Given the description of an element on the screen output the (x, y) to click on. 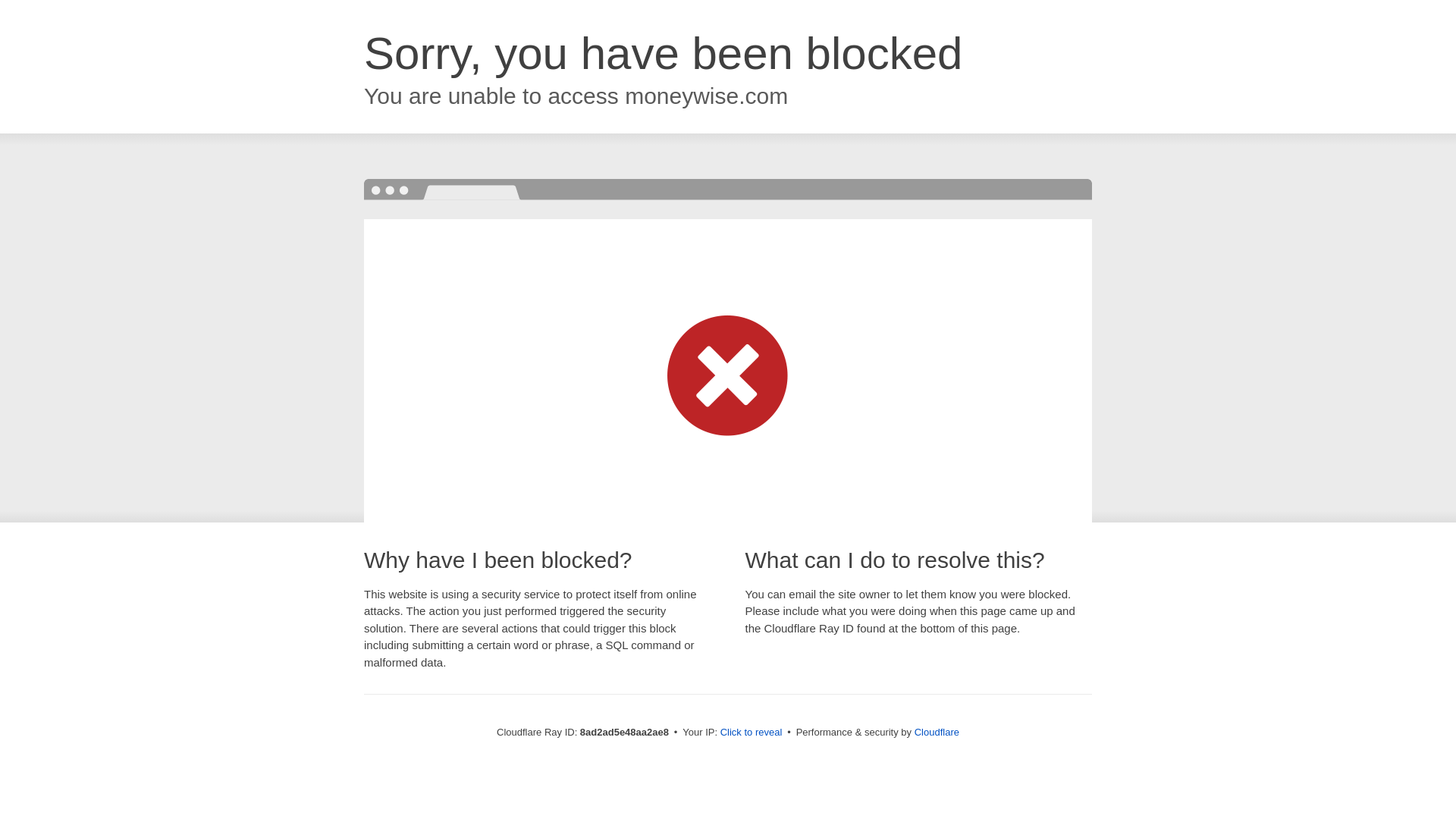
Click to reveal (751, 732)
Cloudflare (936, 731)
